Given the description of an element on the screen output the (x, y) to click on. 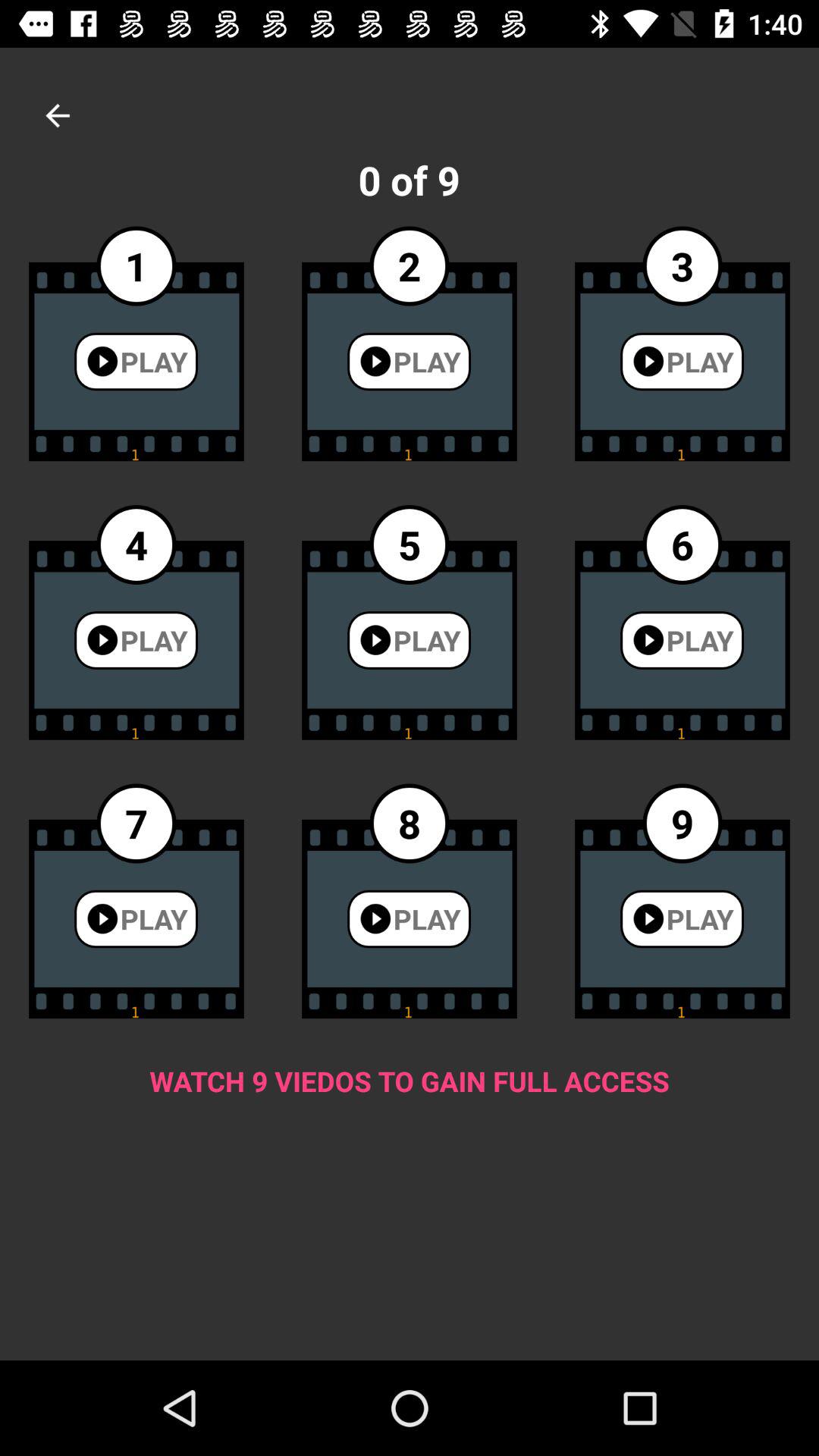
turn off icon above the 1 item (57, 115)
